Given the description of an element on the screen output the (x, y) to click on. 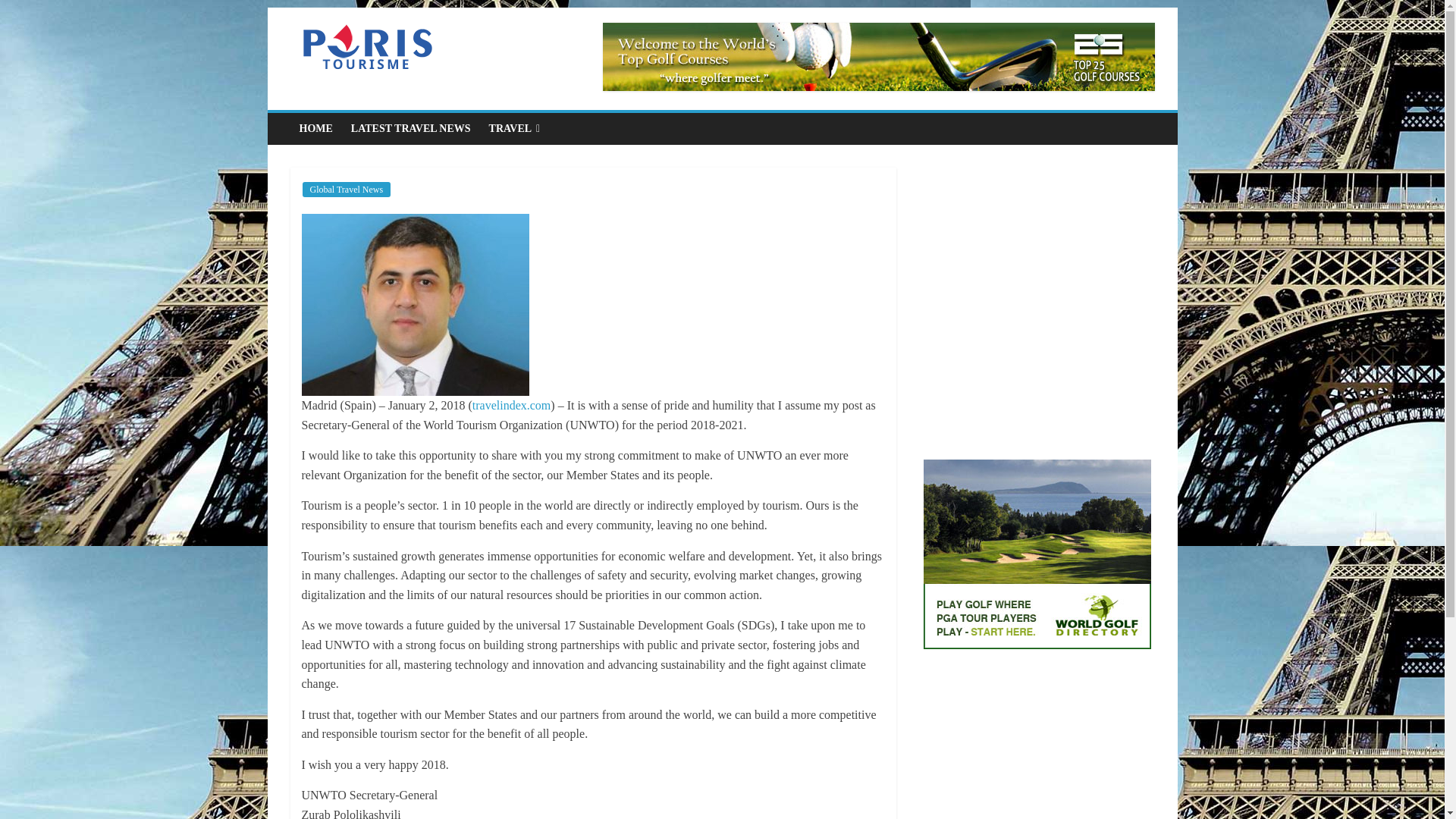
HOME (314, 128)
travel-image-Zurab-Pololikashvili (415, 304)
TRAVEL (515, 128)
travelindex.com (511, 404)
Global Travel News (345, 189)
LATEST TRAVEL NEWS (411, 128)
